Given the description of an element on the screen output the (x, y) to click on. 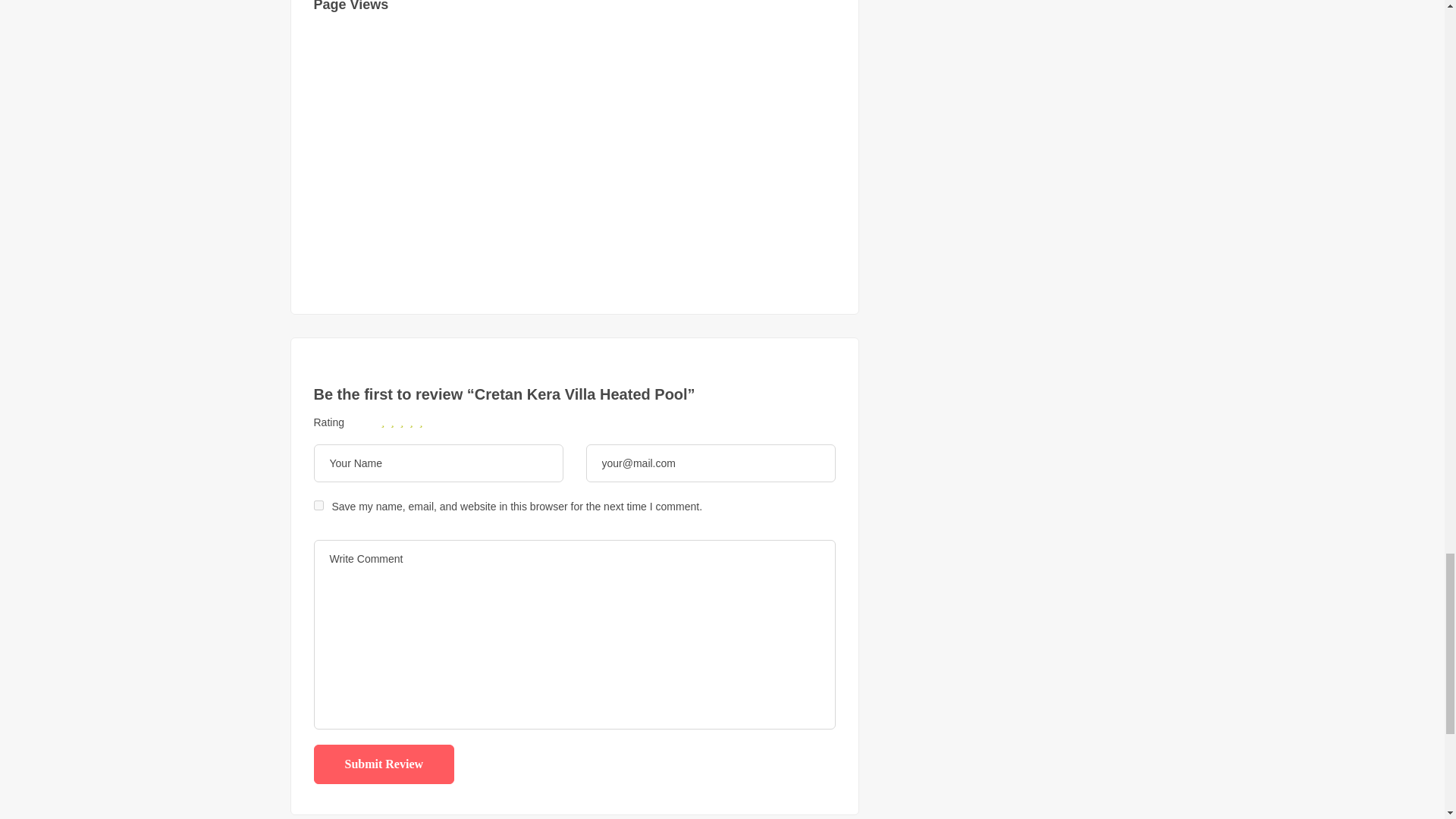
Submit Review (384, 763)
yes (318, 505)
